Given the description of an element on the screen output the (x, y) to click on. 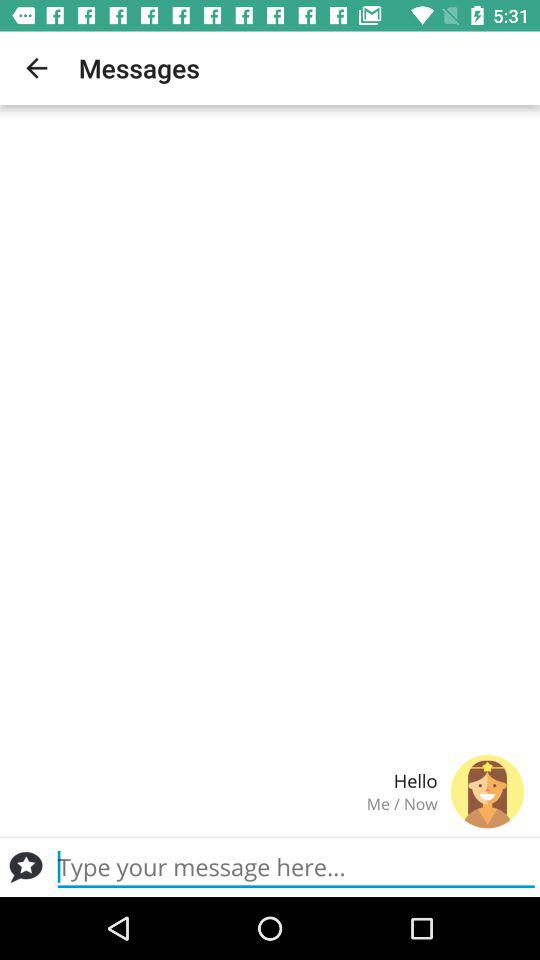
click the item above me / now (226, 780)
